Given the description of an element on the screen output the (x, y) to click on. 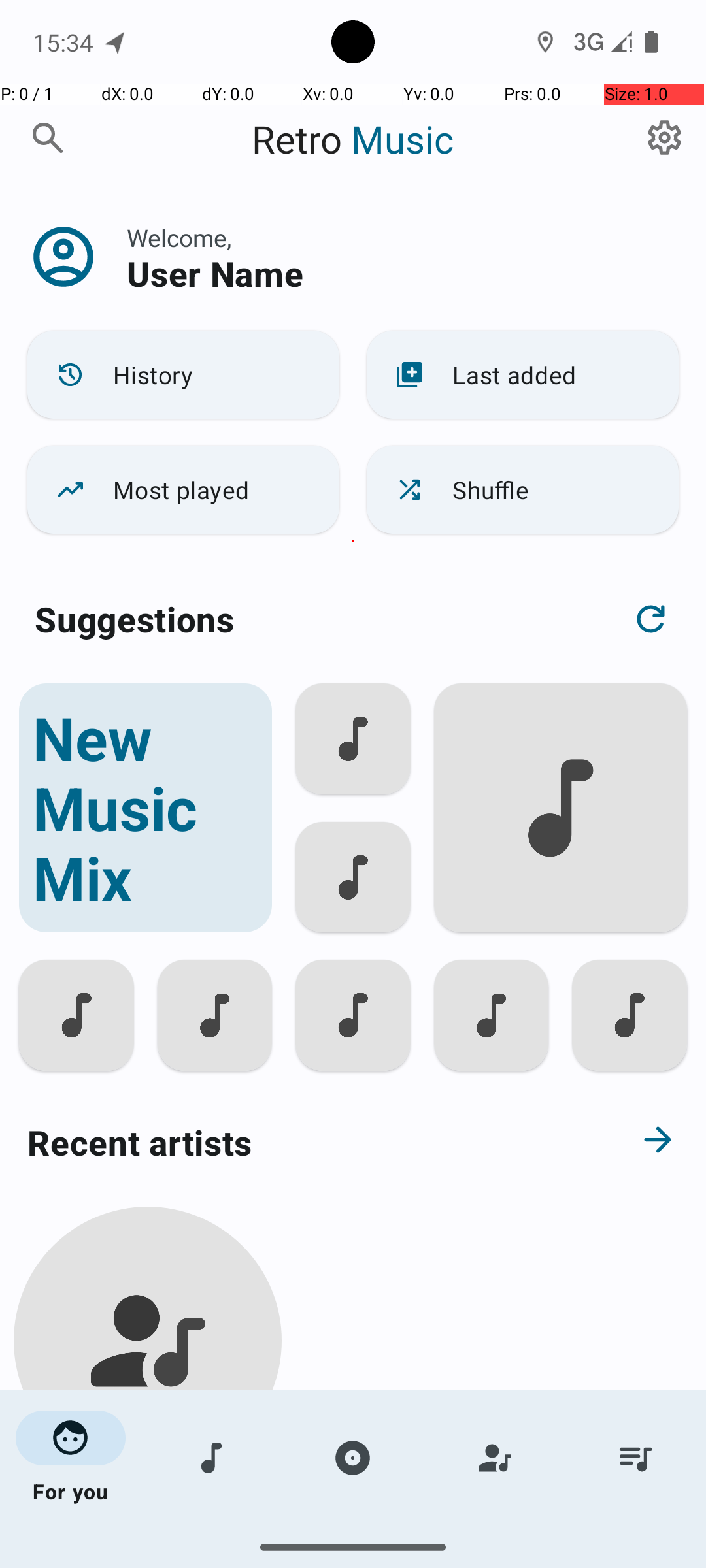
Retro Music Element type: android.widget.TextView (352, 138)
For you Element type: android.widget.FrameLayout (70, 1457)
Songs Element type: android.widget.FrameLayout (211, 1457)
Albums Element type: android.widget.FrameLayout (352, 1457)
Artists Element type: android.widget.FrameLayout (493, 1457)
Playlists Element type: android.widget.FrameLayout (635, 1457)
Welcome, Element type: android.widget.TextView (179, 237)
User Name Element type: android.widget.TextView (214, 273)
Last added Element type: android.widget.Button (522, 374)
Most played Element type: android.widget.Button (183, 489)
Shuffle Element type: android.widget.Button (522, 489)
Suggestions Element type: android.widget.TextView (134, 618)
New Music Mix Element type: android.widget.TextView (144, 807)
Recent artists Element type: android.widget.TextView (304, 1141)
Recent albums Element type: android.widget.TextView (304, 1557)
Sara Element type: android.widget.TextView (147, 1503)
